Given the description of an element on the screen output the (x, y) to click on. 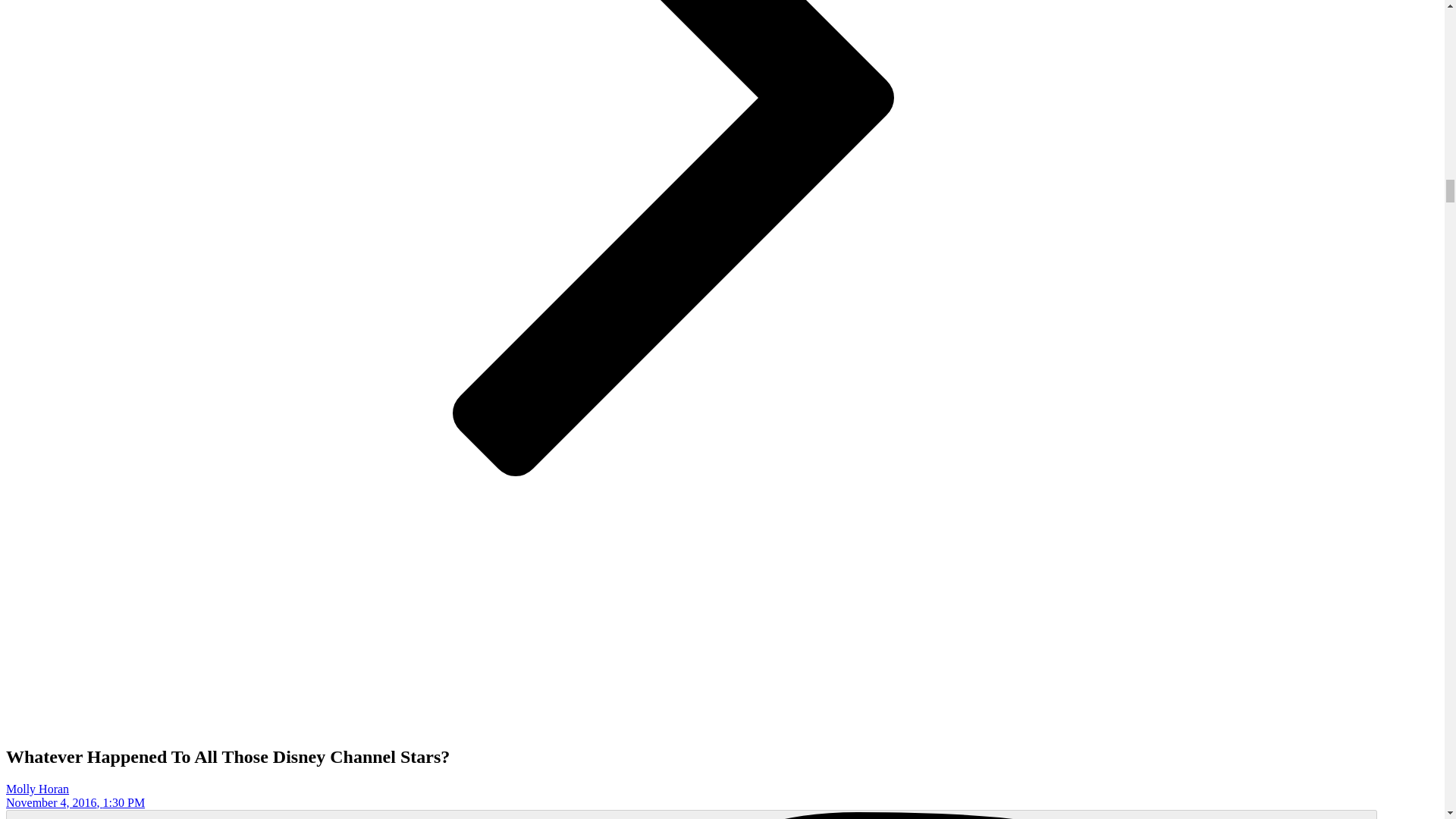
November 4, 2016, 1:30 PM (74, 802)
Molly Horan (36, 788)
